Given the description of an element on the screen output the (x, y) to click on. 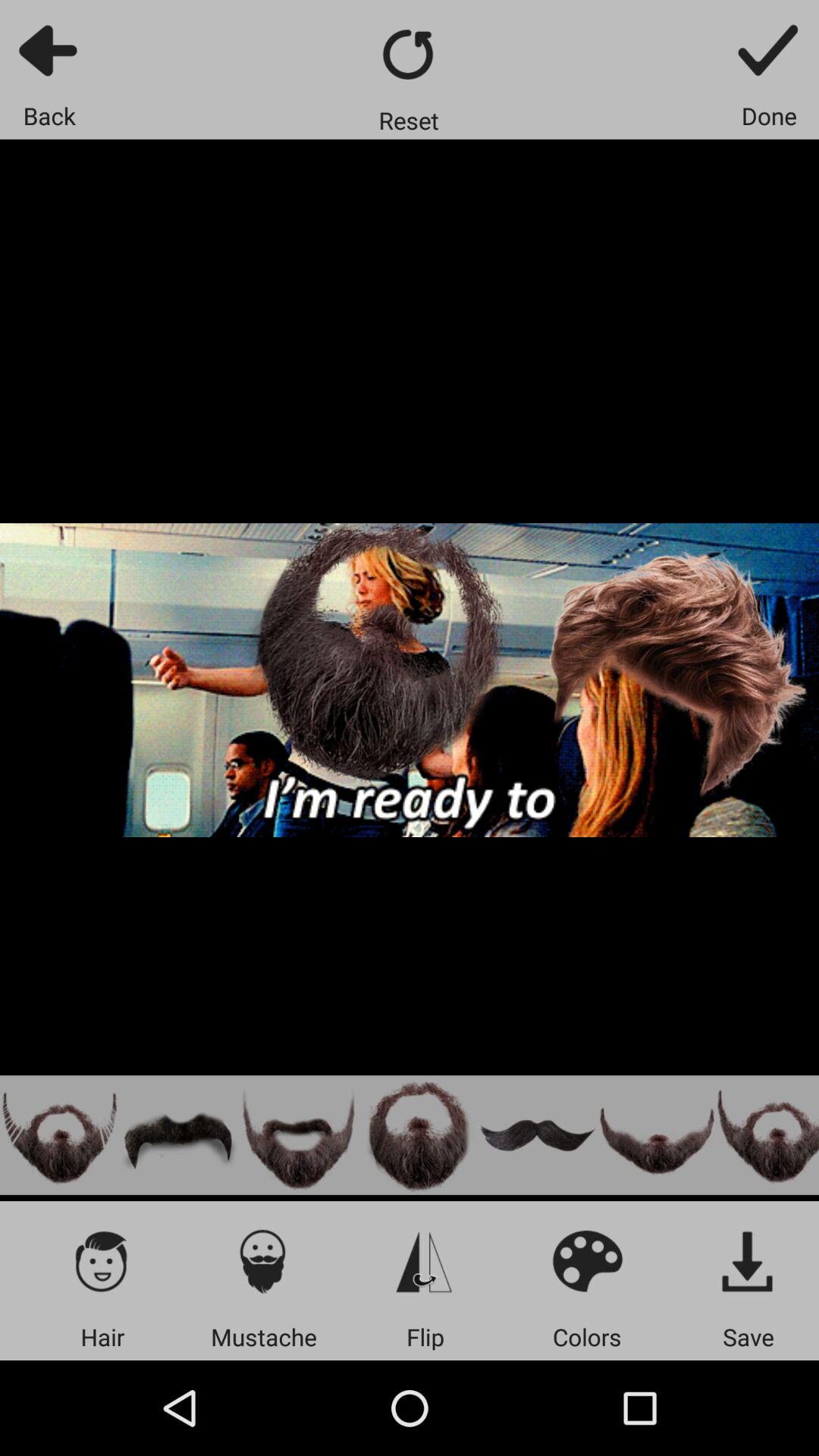
select the mustache option (537, 1134)
